Given the description of an element on the screen output the (x, y) to click on. 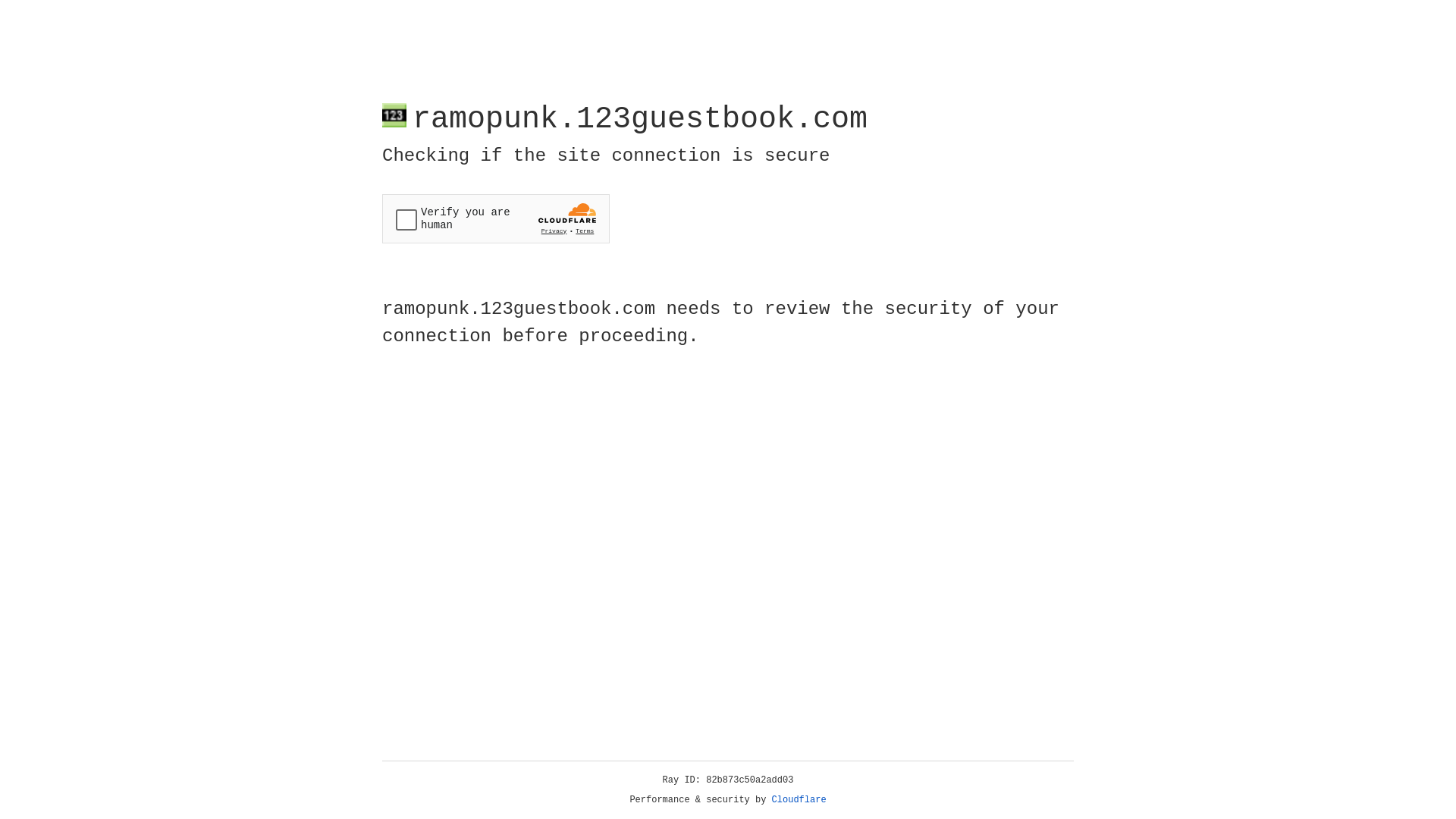
Cloudflare Element type: text (798, 799)
Widget containing a Cloudflare security challenge Element type: hover (495, 218)
